Given the description of an element on the screen output the (x, y) to click on. 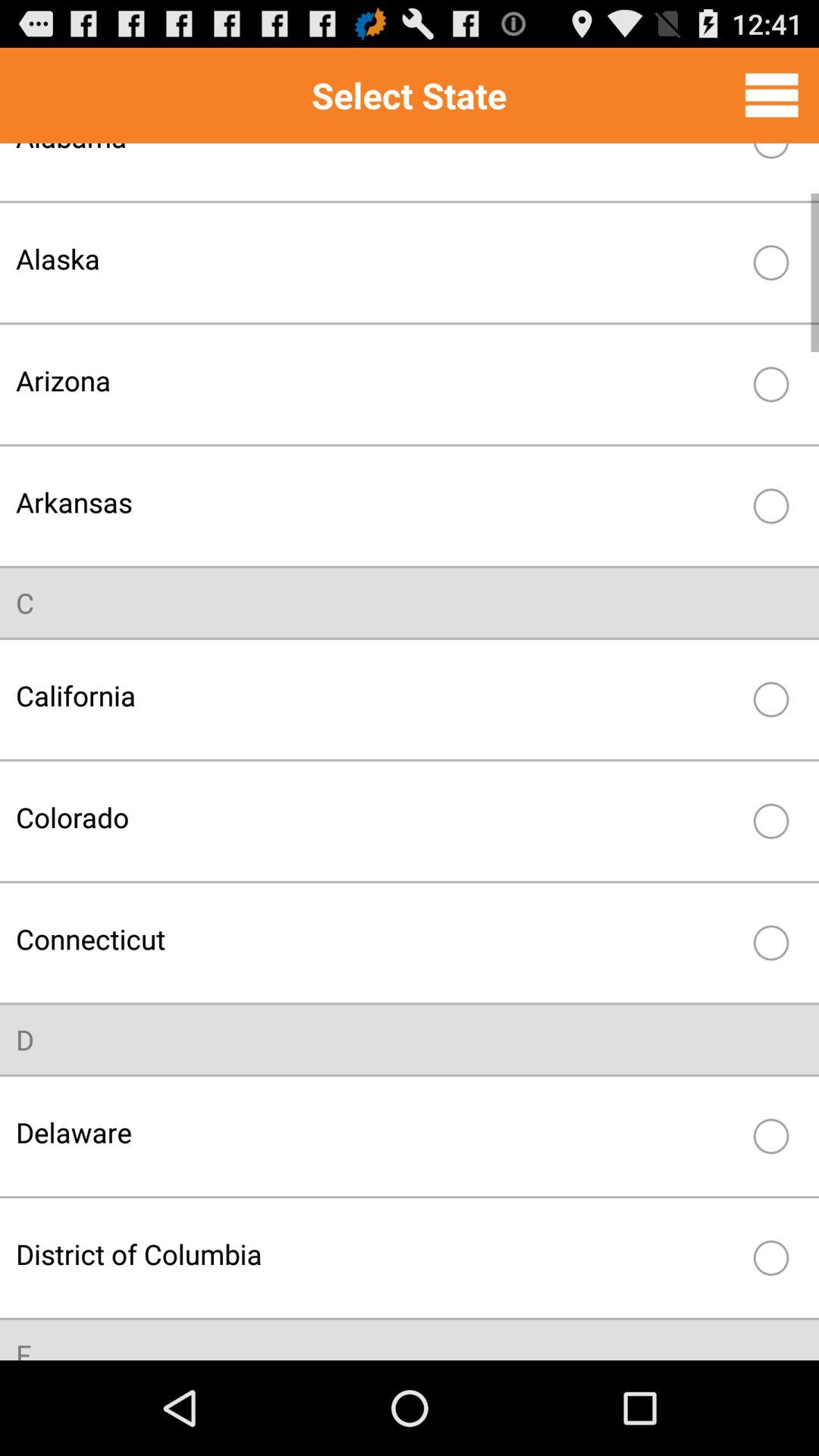
select item above the alaska item (377, 159)
